Given the description of an element on the screen output the (x, y) to click on. 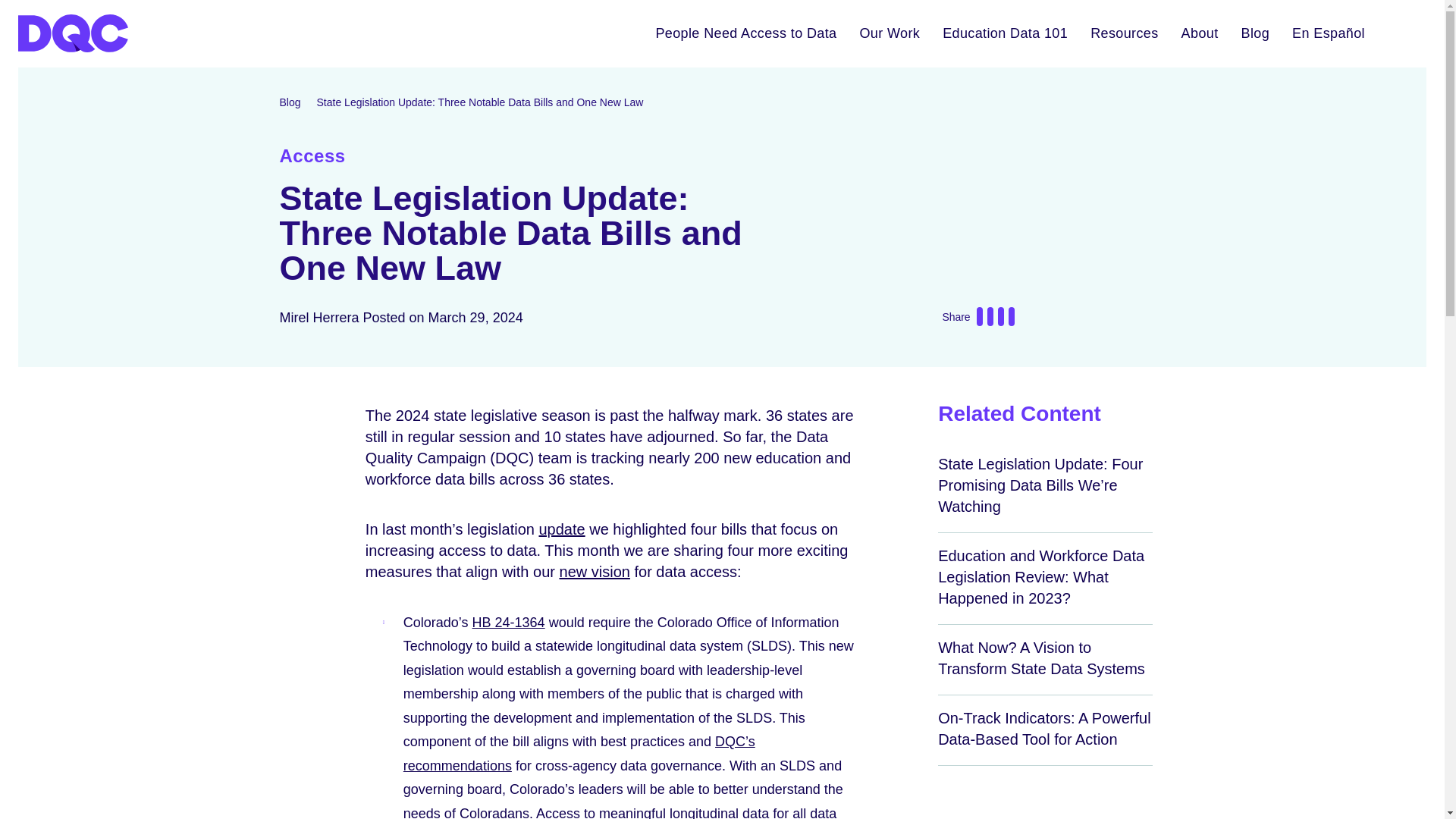
Search this site (1401, 32)
On-Track Indicators: A Powerful Data-Based Tool for Action (1043, 728)
What Now? A Vision to Transform State Data Systems (1040, 658)
Resources (1123, 33)
Education Data 101 (1004, 33)
People Need Access to Data (745, 33)
Resources (1123, 33)
Go to Blog. (289, 102)
Why Education Data? (1004, 33)
Who We Are (1200, 33)
